Given the description of an element on the screen output the (x, y) to click on. 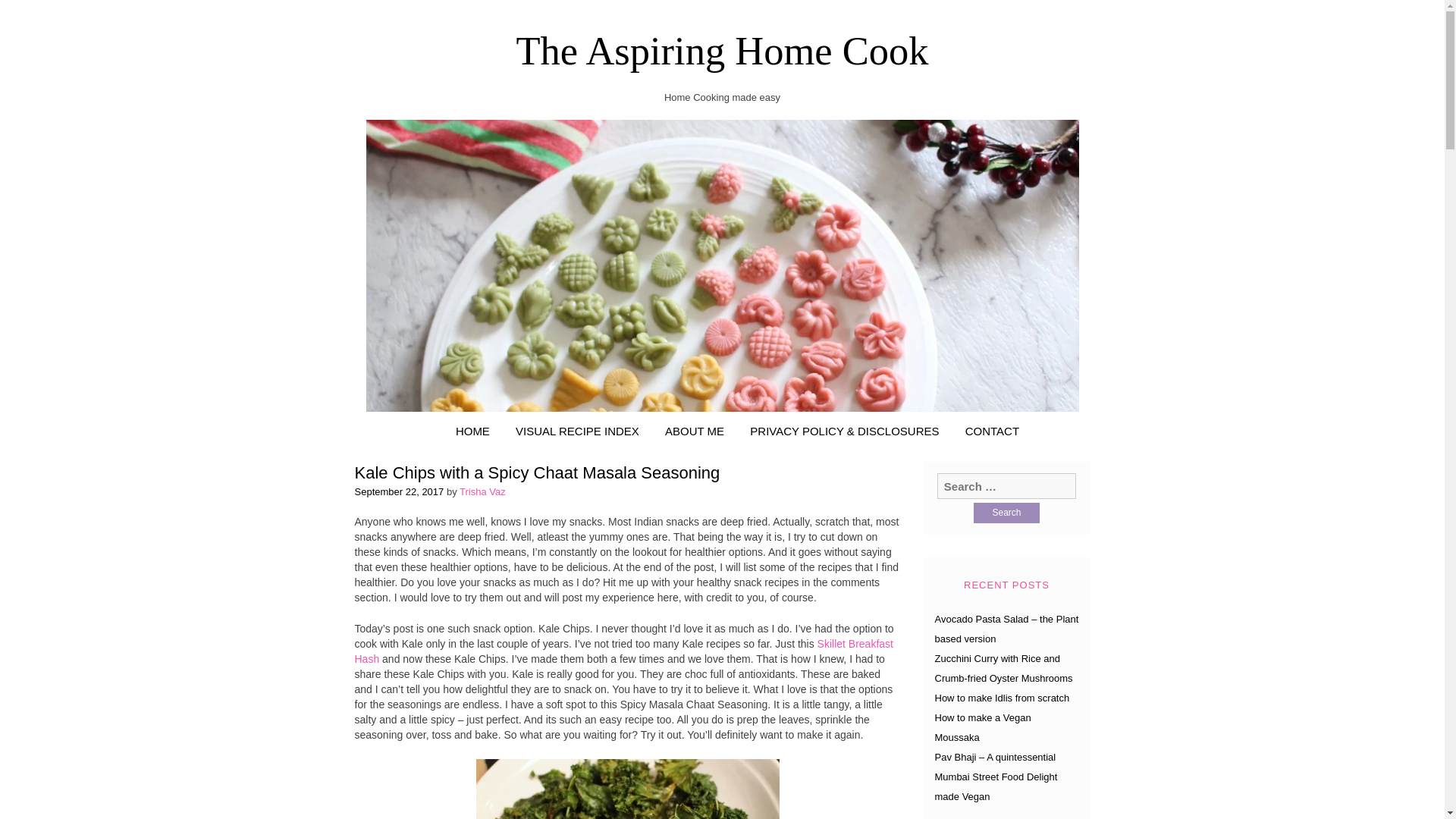
Trisha Vaz (482, 491)
Search (1006, 512)
ABOUT ME (694, 430)
CONTACT (991, 430)
HOME (472, 430)
VISUAL RECIPE INDEX (576, 430)
Search (1006, 512)
Kale Chips with a Spicy Chaat Masala Seasoning (537, 472)
Skillet Breakfast Hash (624, 651)
The Aspiring Home Cook (722, 50)
